Given the description of an element on the screen output the (x, y) to click on. 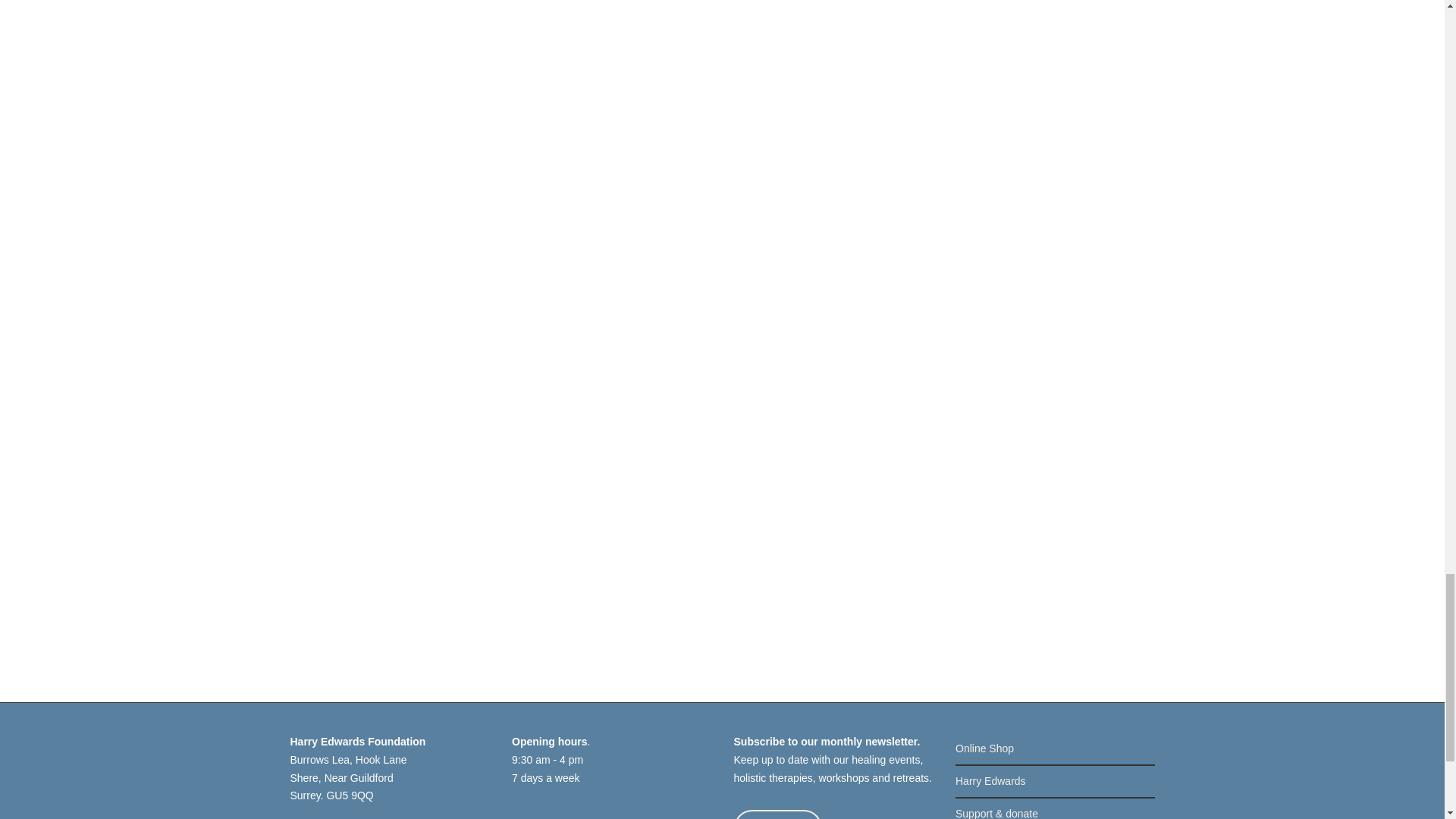
Harry Edwards (1054, 780)
Online Shop (1054, 748)
Subscribe (777, 814)
